Given the description of an element on the screen output the (x, y) to click on. 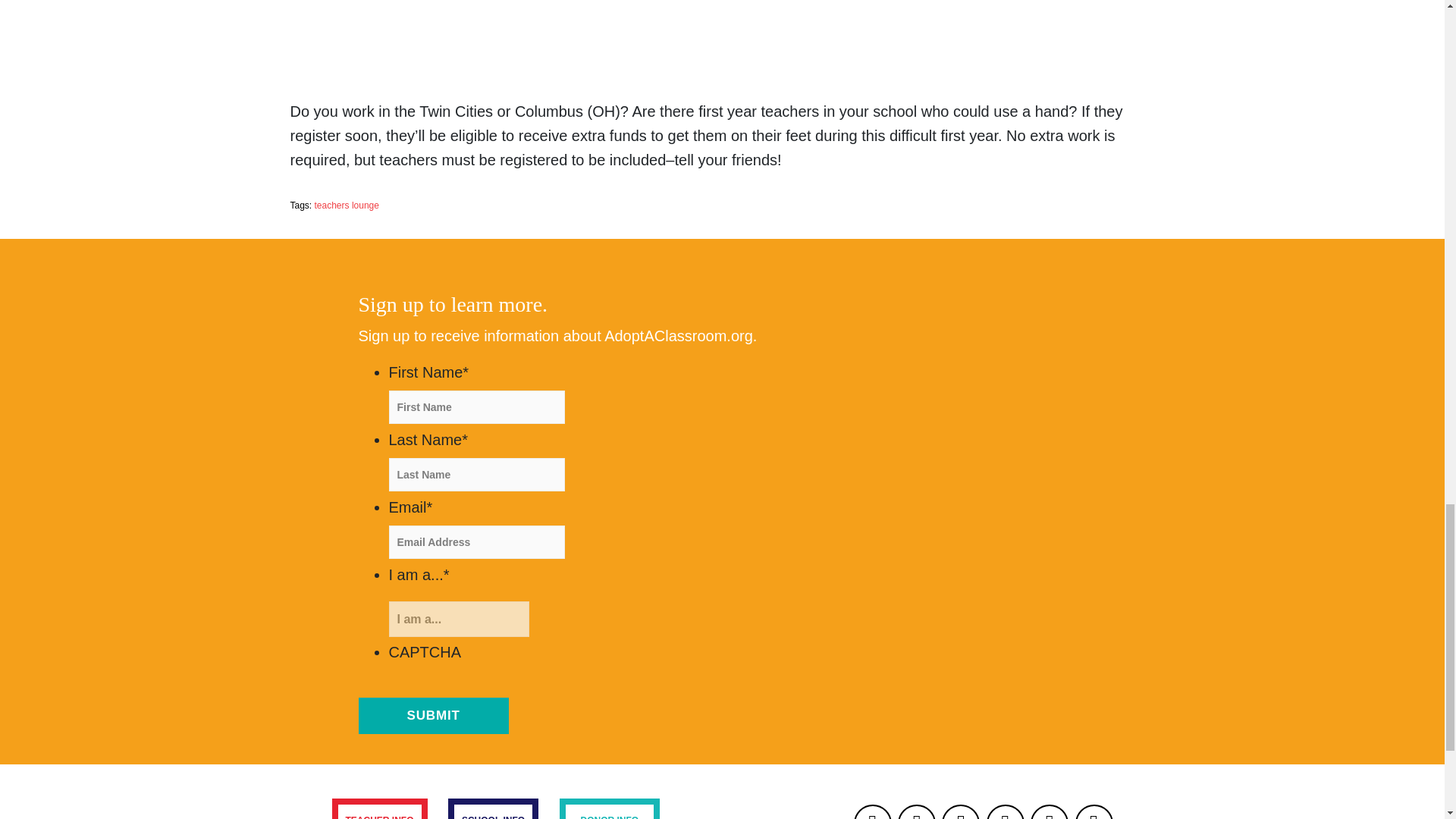
Submit (433, 715)
TEACHER INFO (379, 808)
teachers lounge (346, 204)
Submit (433, 715)
SCHOOL INFO (493, 808)
